Given the description of an element on the screen output the (x, y) to click on. 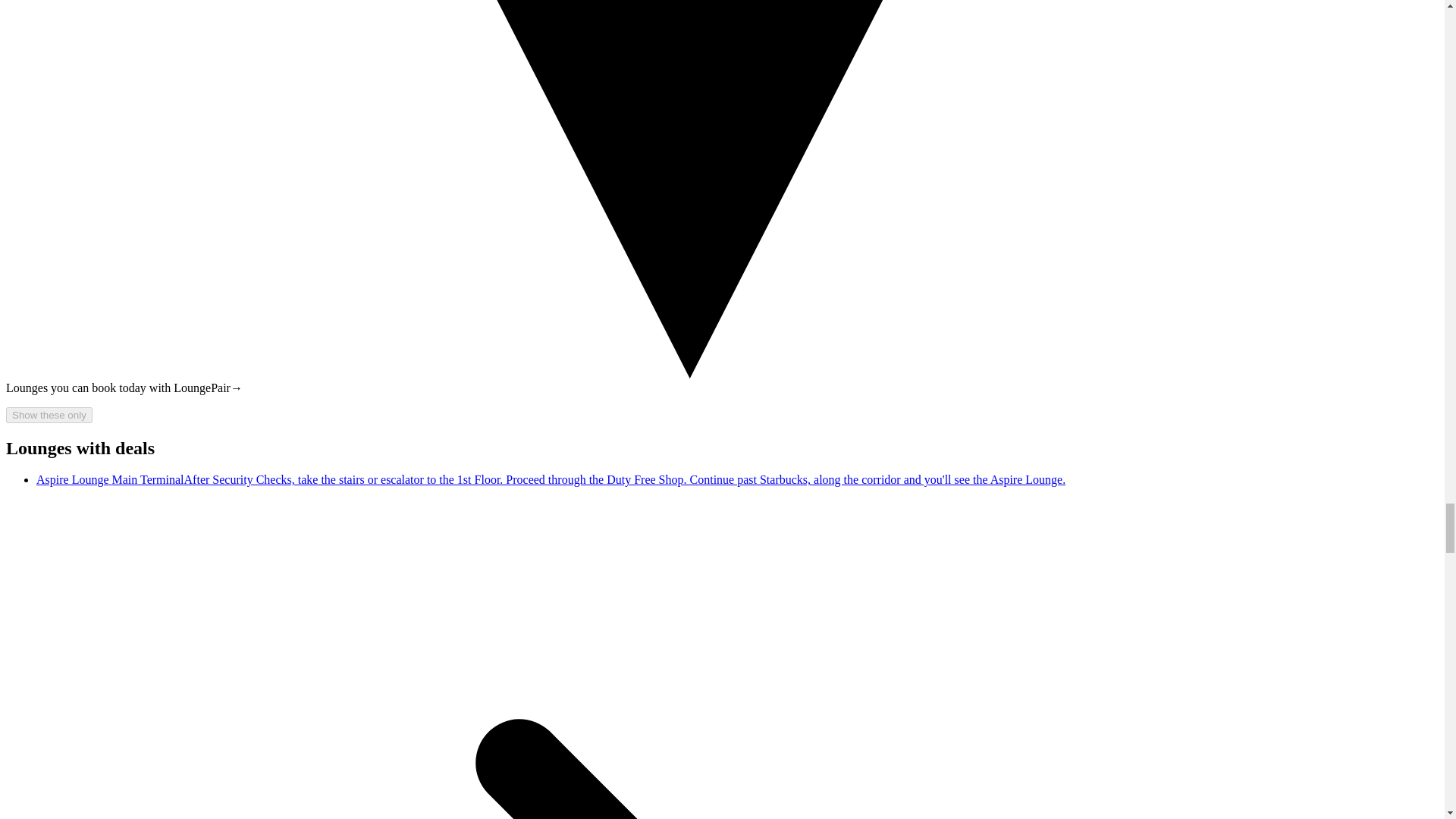
Show these only (49, 415)
